Given the description of an element on the screen output the (x, y) to click on. 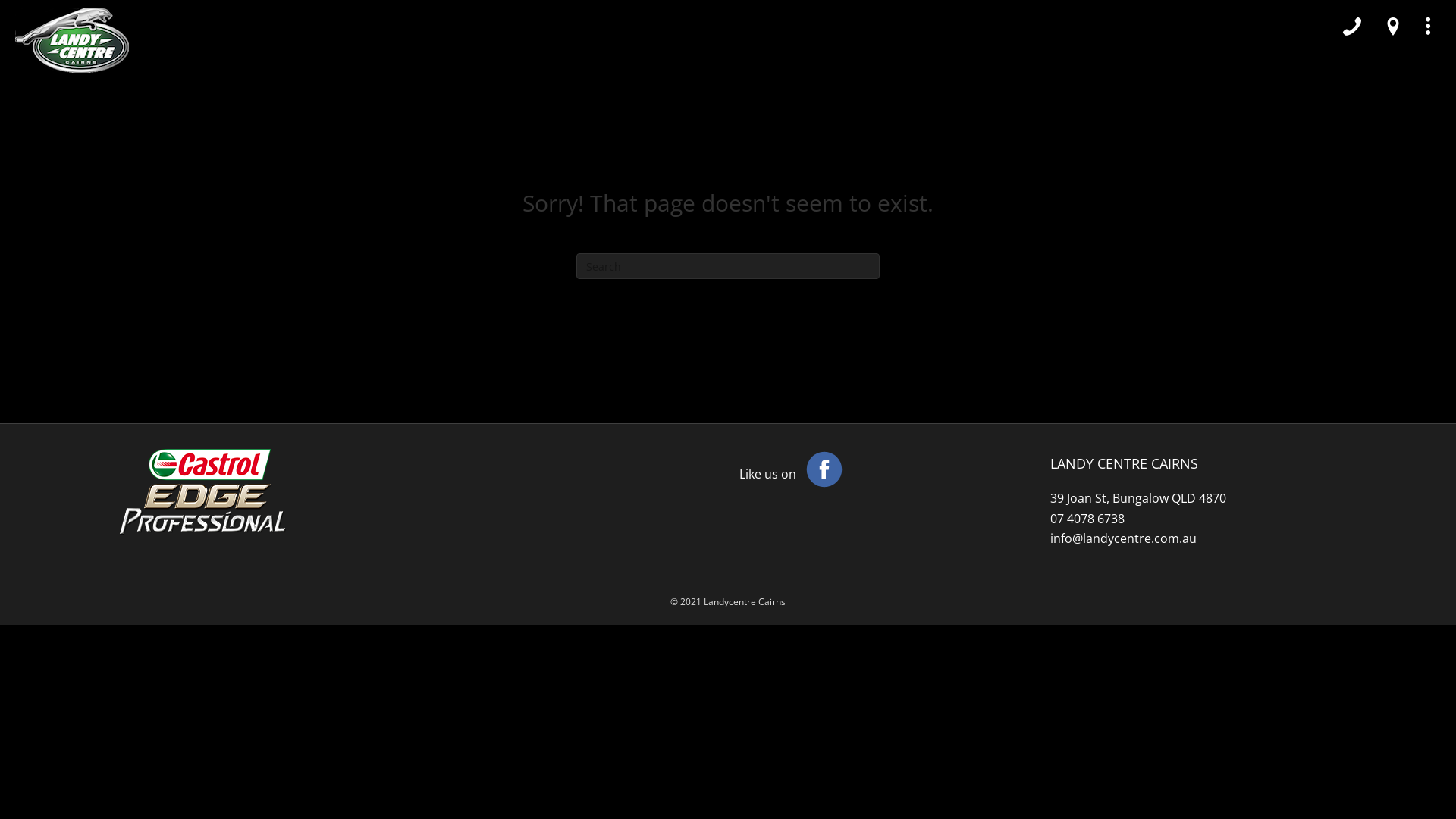
07 4078 6738 Element type: text (1086, 518)
Landycentre LOGO_trans Element type: hover (71, 39)
Type and press Enter to search. Element type: hover (727, 266)
